Given the description of an element on the screen output the (x, y) to click on. 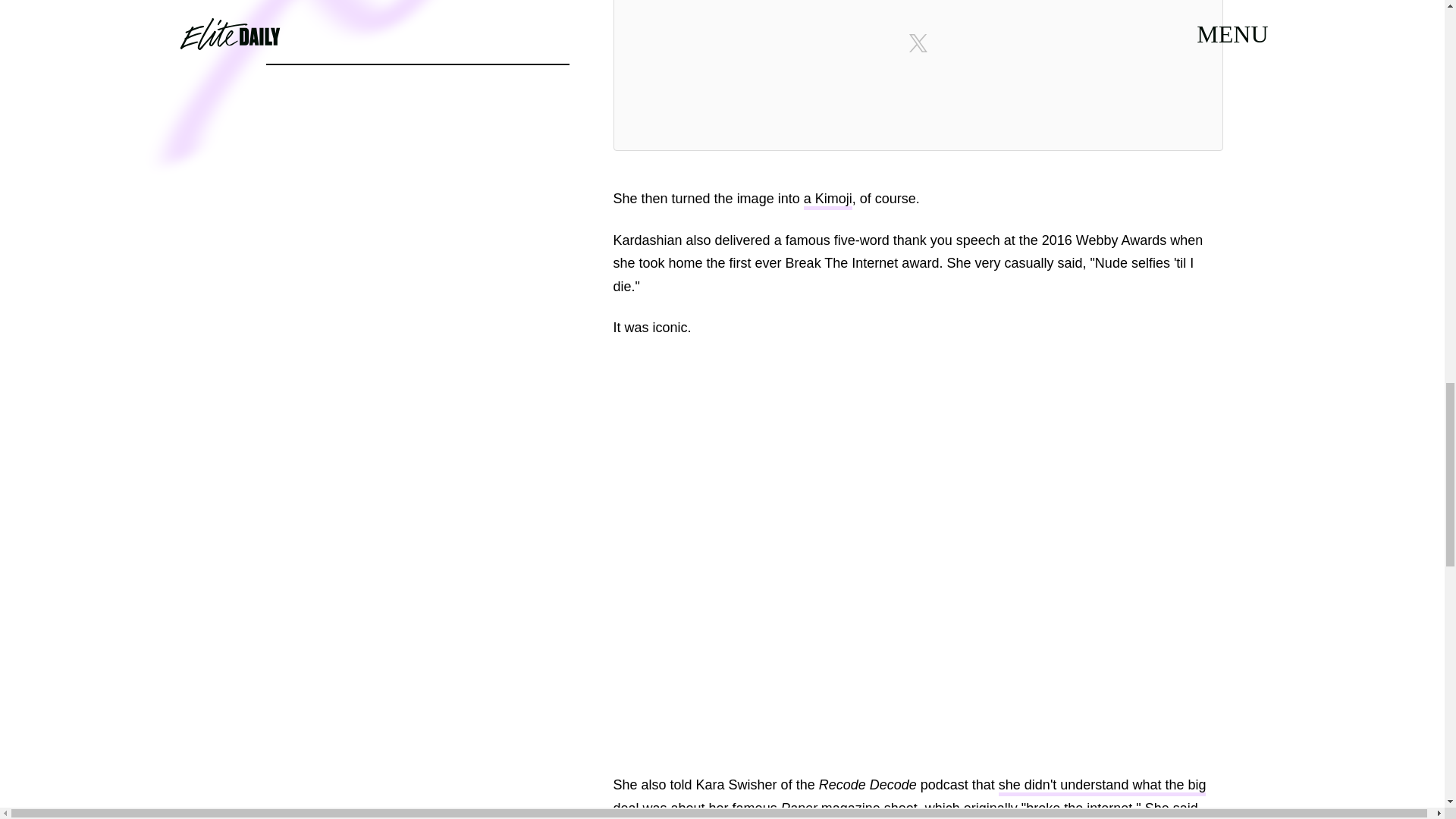
a Kimoji (827, 199)
originally "broke the internet." (1052, 809)
she didn't understand what the big deal was (908, 798)
